Given the description of an element on the screen output the (x, y) to click on. 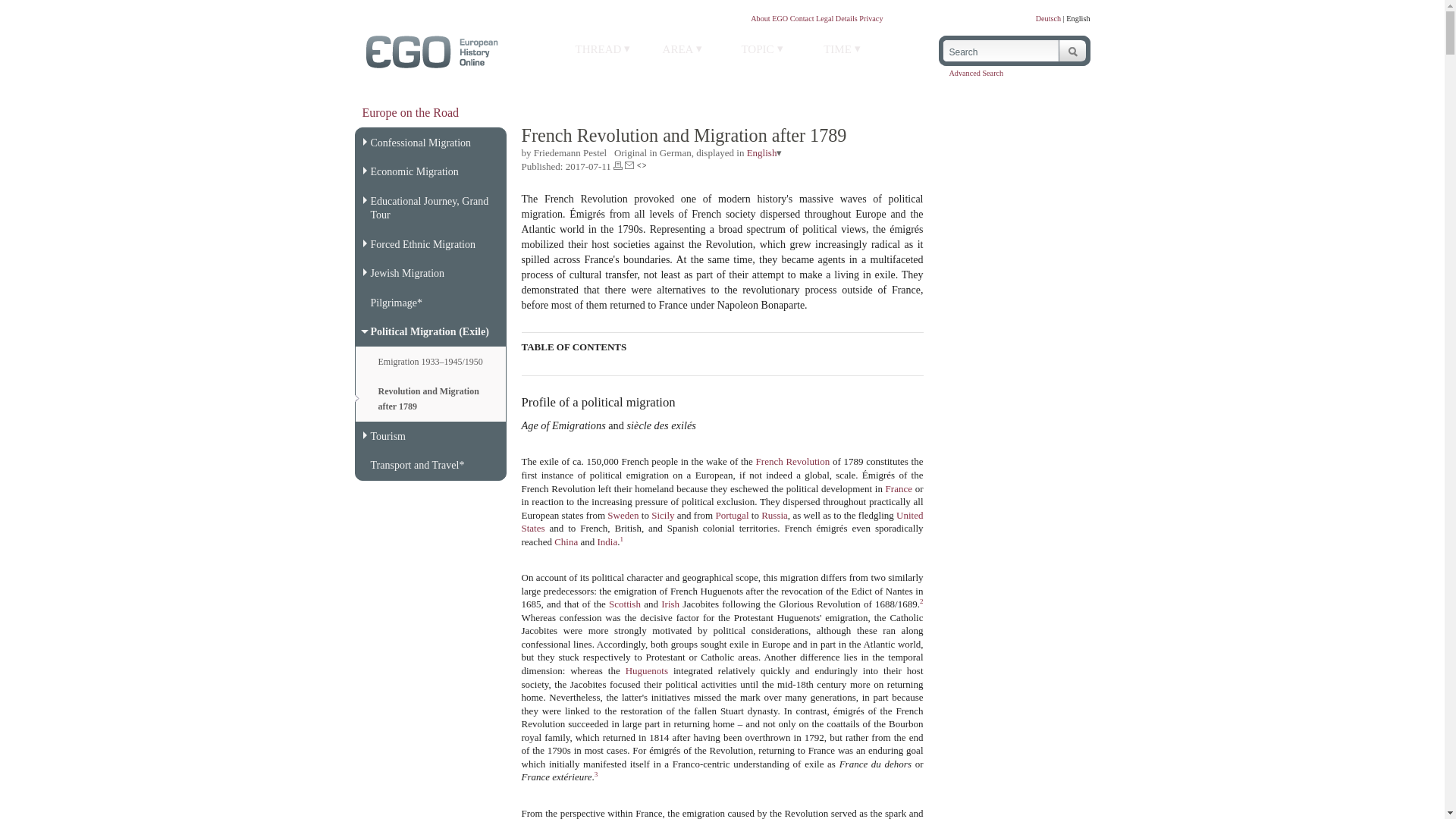
Contact (801, 18)
Deutsch (1048, 18)
Deutsch (1048, 18)
Back to Homepage (431, 61)
Search (998, 51)
Search (998, 51)
Privacy (870, 18)
Legal Details (836, 18)
About EGO (769, 18)
